Given the description of an element on the screen output the (x, y) to click on. 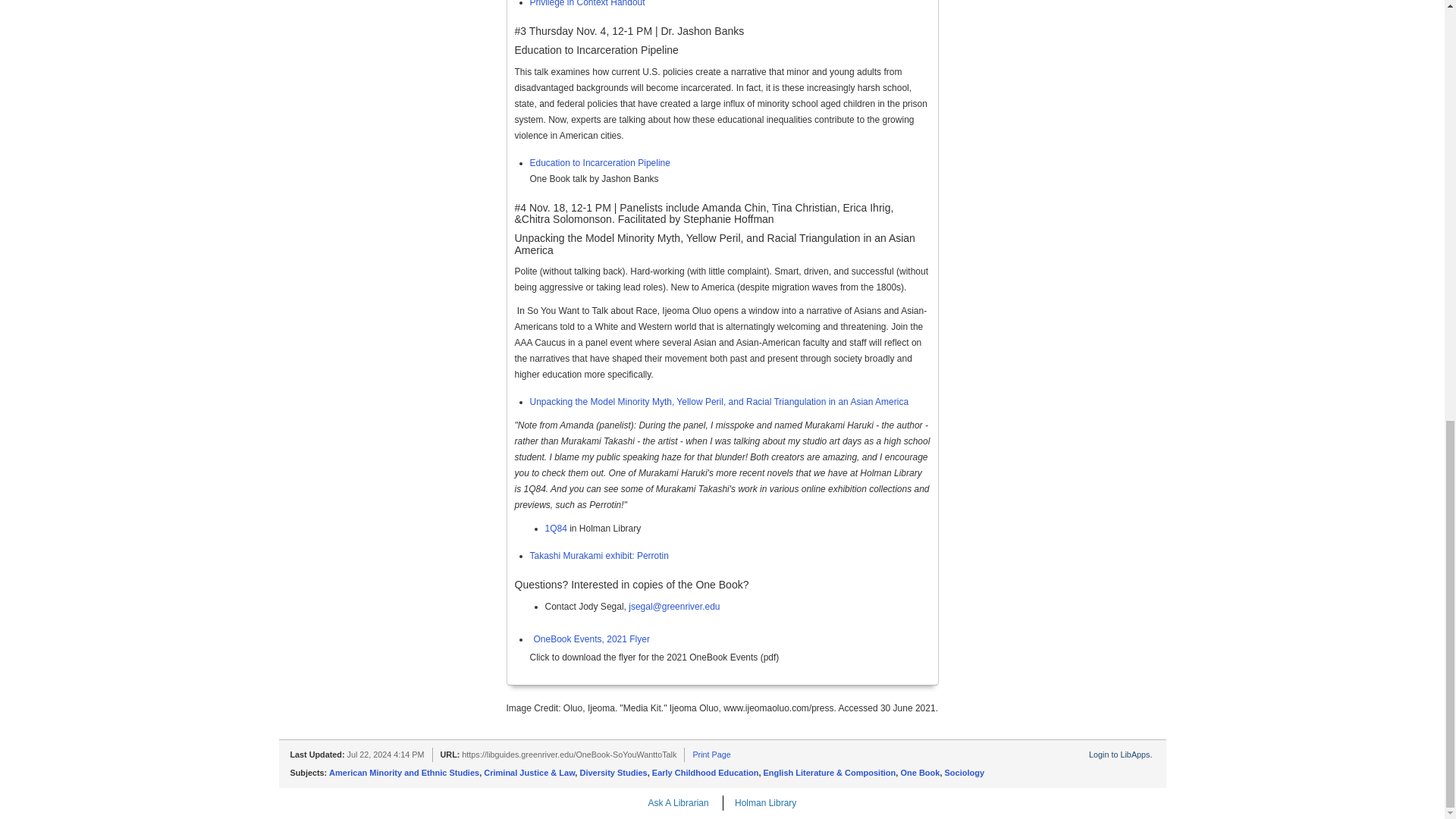
Takashi Murakami exhibit: Perrotin (598, 555)
Education to Incarceration Pipeline (599, 163)
1Q84 (555, 528)
Privilege in Context Handout (587, 3)
